Given the description of an element on the screen output the (x, y) to click on. 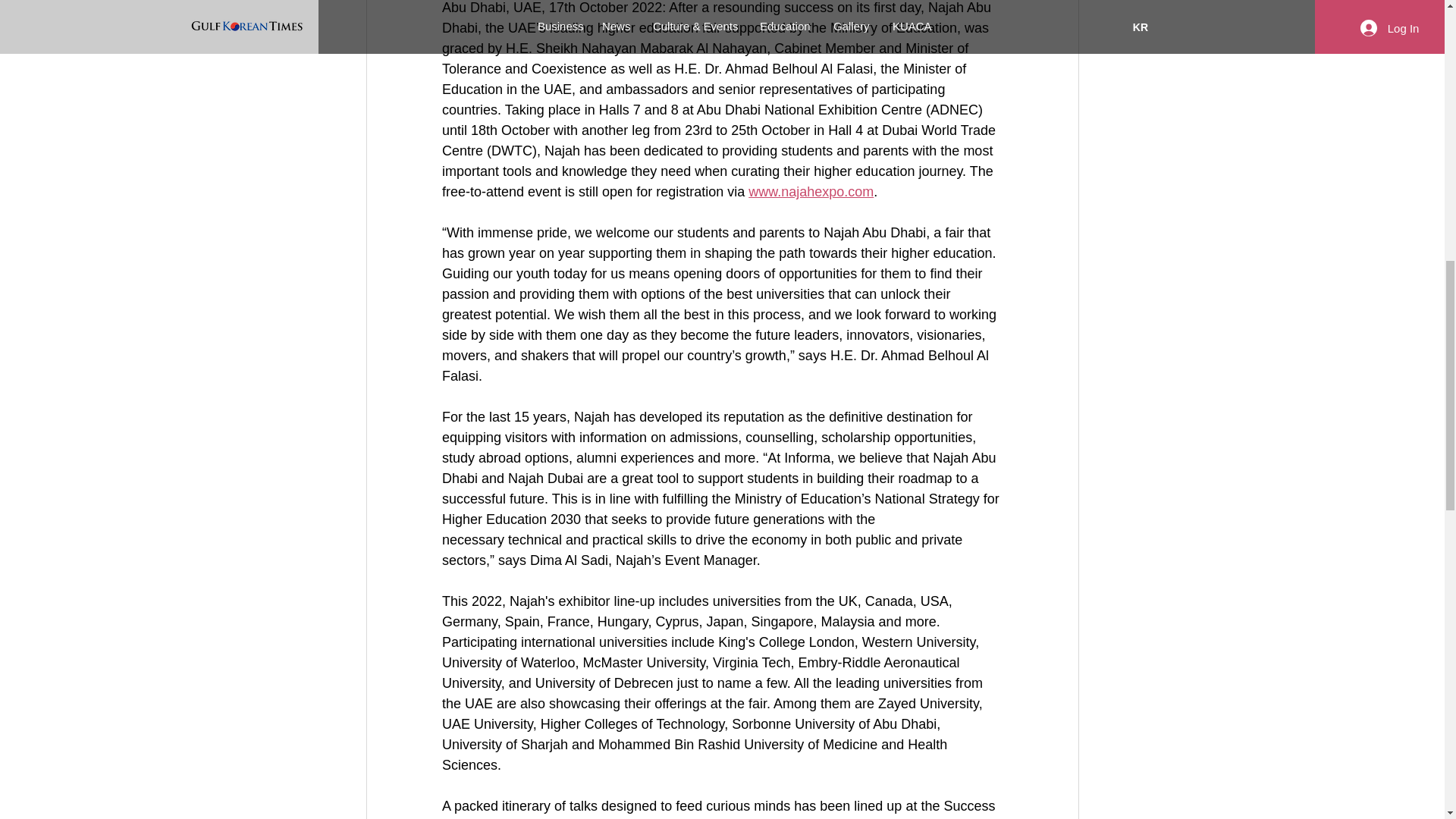
www.najahexpo.com (810, 191)
